Given the description of an element on the screen output the (x, y) to click on. 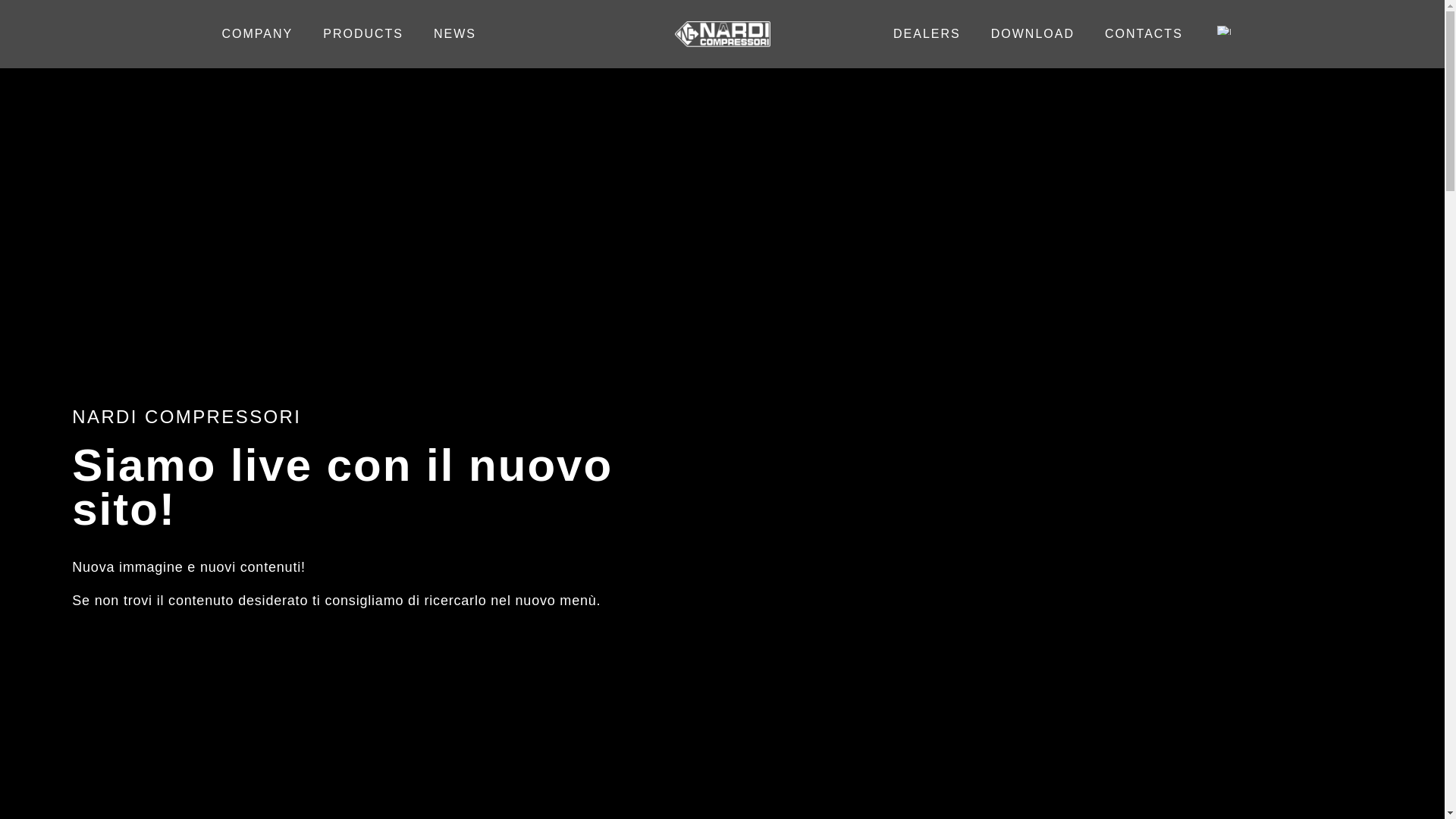
Italian (1223, 30)
PRODUCTS (363, 33)
COMPANY (256, 33)
NEWS (455, 33)
DEALERS (926, 33)
DOWNLOAD (1032, 33)
CONTACTS (1143, 33)
